Given the description of an element on the screen output the (x, y) to click on. 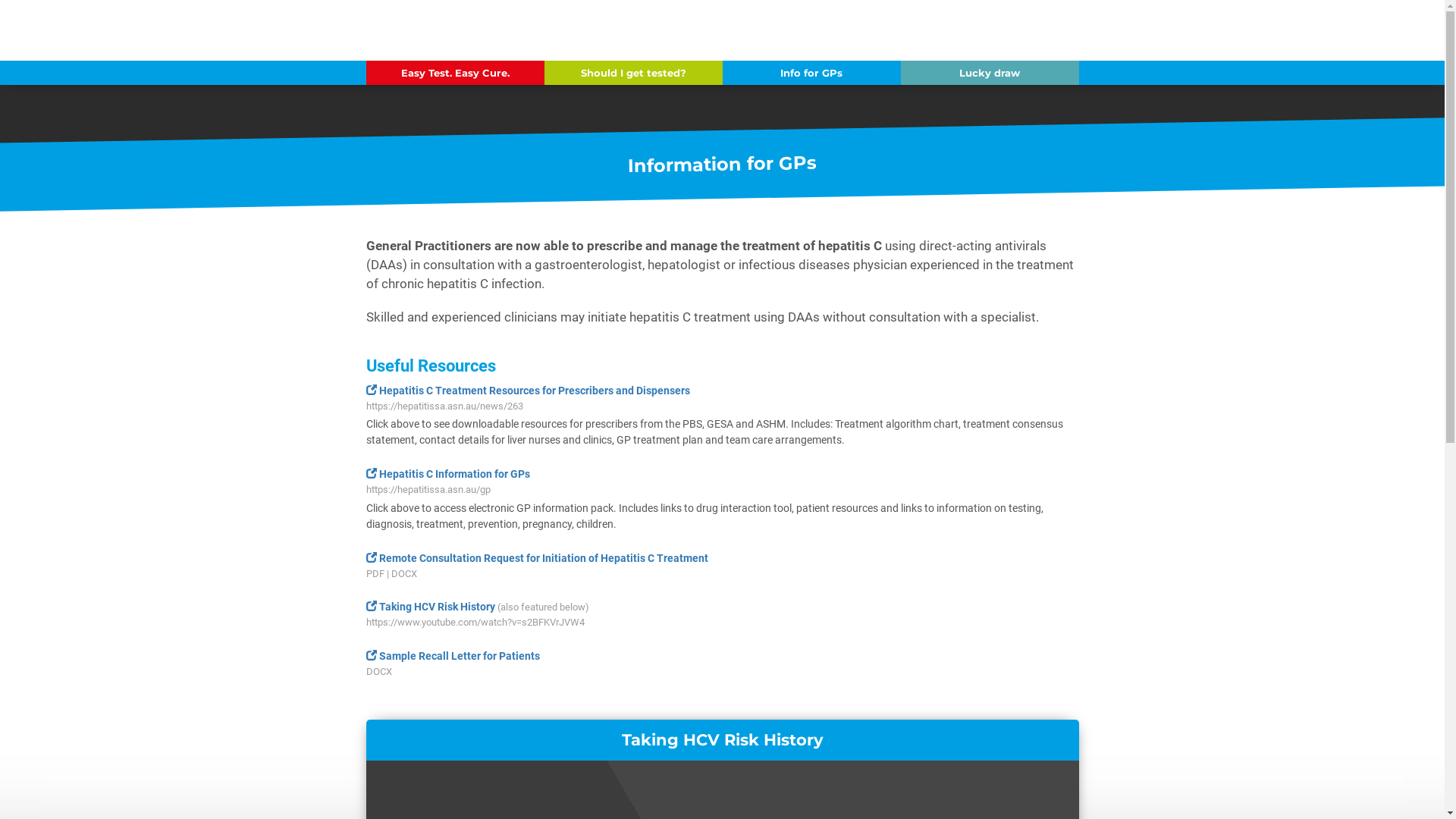
Info for GPs Element type: text (810, 72)
Easy Test. Easy Cure. Element type: text (454, 72)
Facebook Element type: text (1074, 29)
DOCX Element type: text (404, 573)
LiverBetterLife Element type: text (448, 30)
Lucky draw Element type: text (989, 72)
https://hepatitissa.asn.au/gp Element type: text (427, 489)
Should I get tested? Element type: text (633, 72)
Taking HCV Risk History Element type: text (429, 606)
Hepatitis C Information for GPs Element type: text (447, 473)
DOCX Element type: text (378, 671)
https://hepatitissa.asn.au/news/263 Element type: text (443, 405)
PDF Element type: text (374, 573)
Sample Recall Letter for Patients Element type: text (452, 655)
https://www.youtube.com/watch?v=s2BFKVrJVW4 Element type: text (474, 621)
Twitter Element type: text (1053, 29)
